Given the description of an element on the screen output the (x, y) to click on. 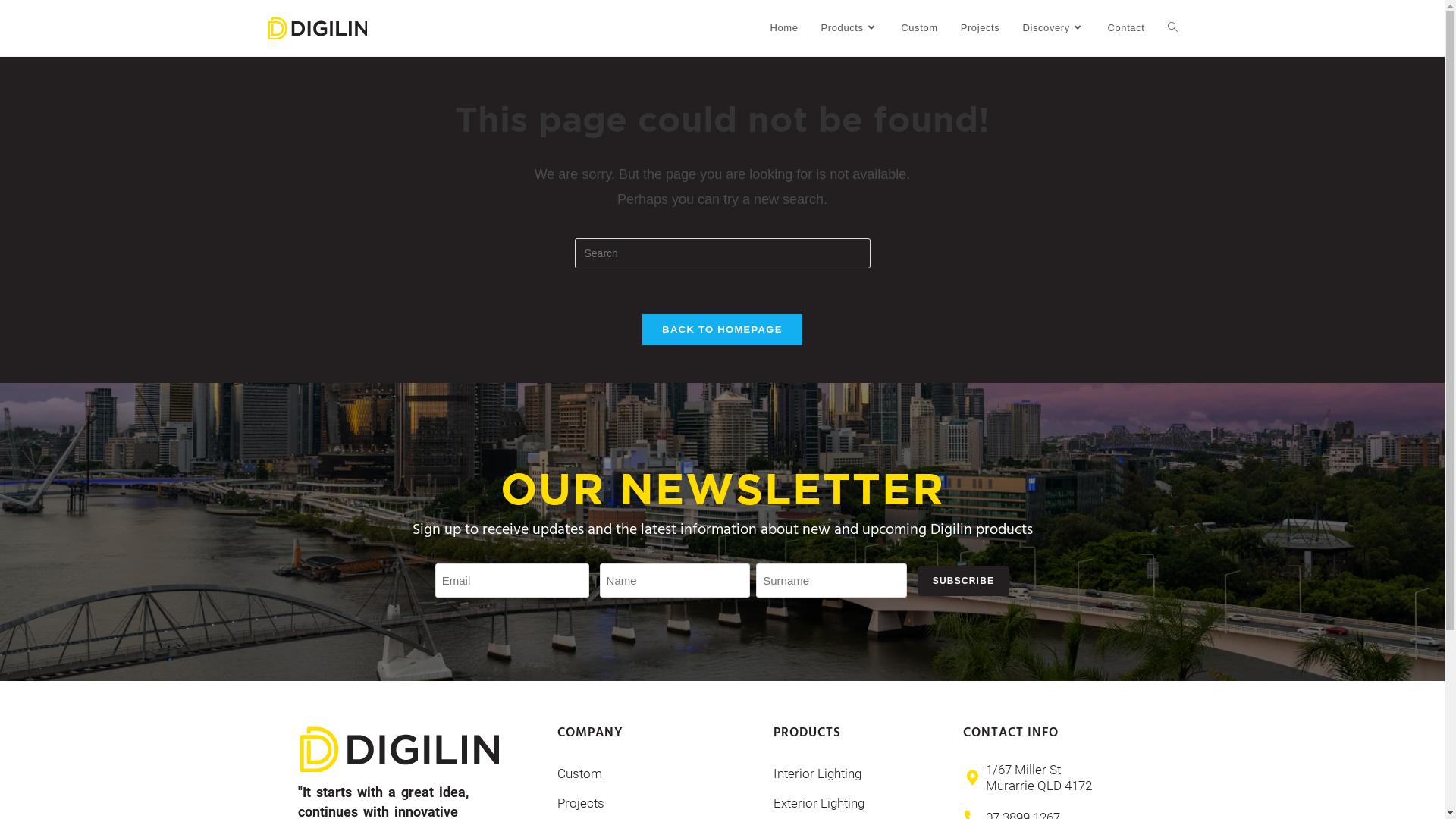
Subscribe Element type: text (963, 580)
Exterior Lighting Element type: text (860, 803)
Projects Element type: text (980, 28)
Home Element type: text (783, 28)
Contact Element type: text (1125, 28)
Interior Lighting Element type: text (860, 773)
Custom Element type: text (918, 28)
Products Element type: text (849, 28)
Discovery Element type: text (1052, 28)
BACK TO HOMEPAGE Element type: text (721, 329)
Projects Element type: text (656, 803)
Custom Element type: text (656, 773)
